Given the description of an element on the screen output the (x, y) to click on. 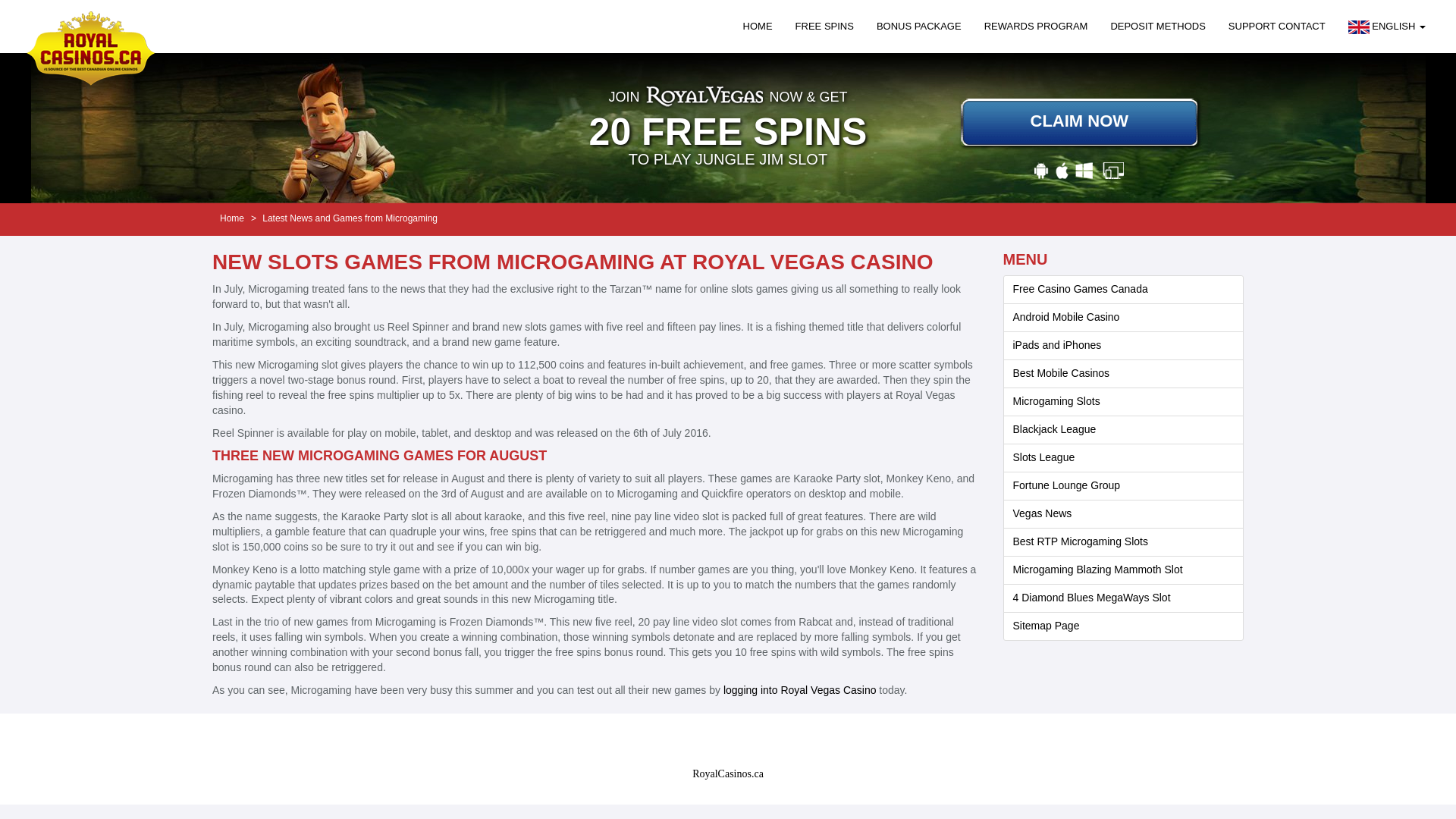
Microgaming Blazing Mammoth Slot (1097, 569)
Blackjack League (1054, 428)
Home (231, 217)
Best Mobile Casinos (1061, 372)
ENGLISH (1386, 26)
SUPPORT CONTACT (1276, 26)
DEPOSIT METHODS (1157, 26)
HOME (758, 26)
BONUS PACKAGE (918, 26)
Best RTP Microgaming Slots (1080, 541)
